Given the description of an element on the screen output the (x, y) to click on. 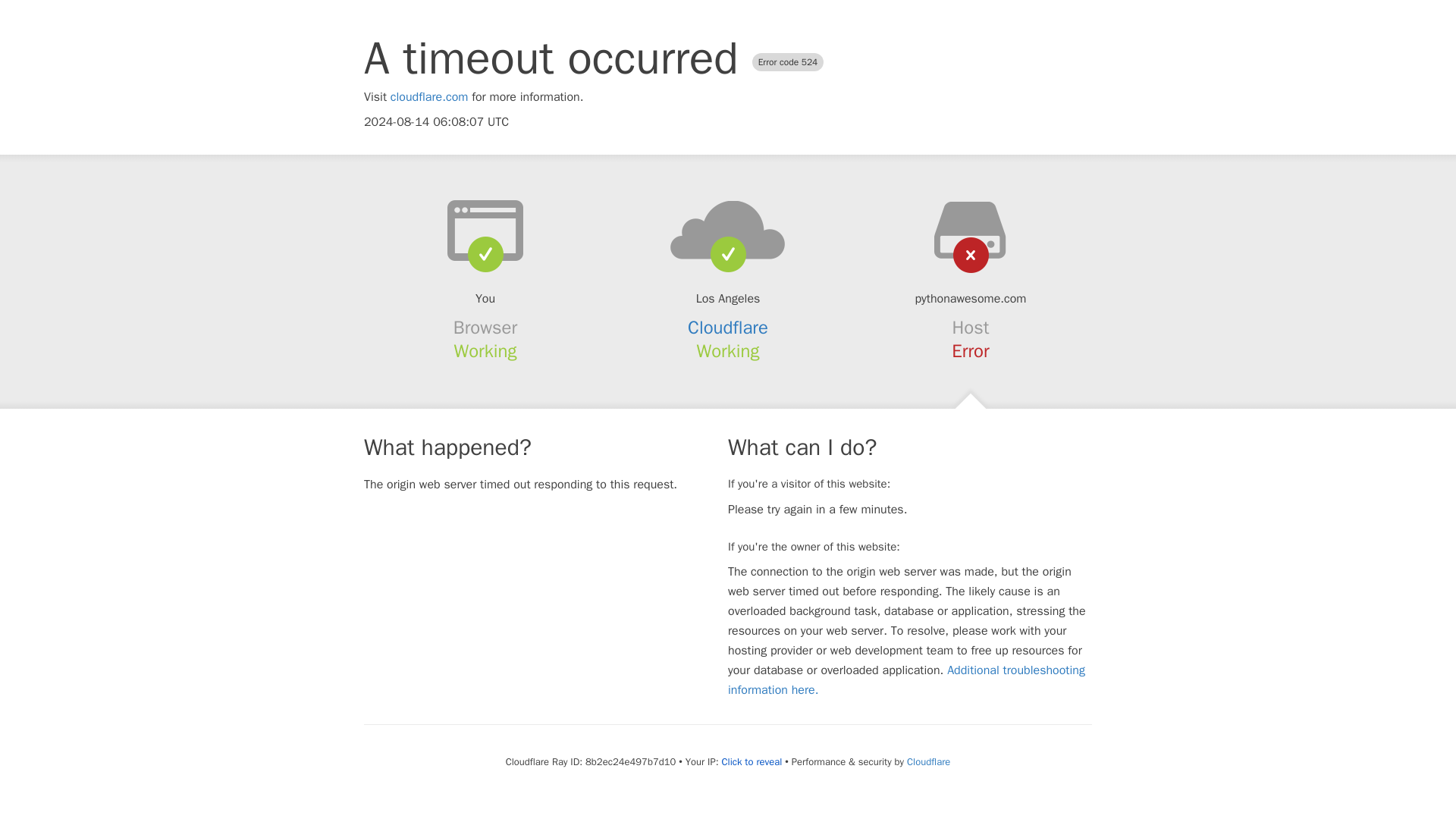
cloudflare.com (429, 96)
Additional troubleshooting information here. (906, 679)
Cloudflare (727, 327)
Click to reveal (750, 762)
Cloudflare (928, 761)
